Given the description of an element on the screen output the (x, y) to click on. 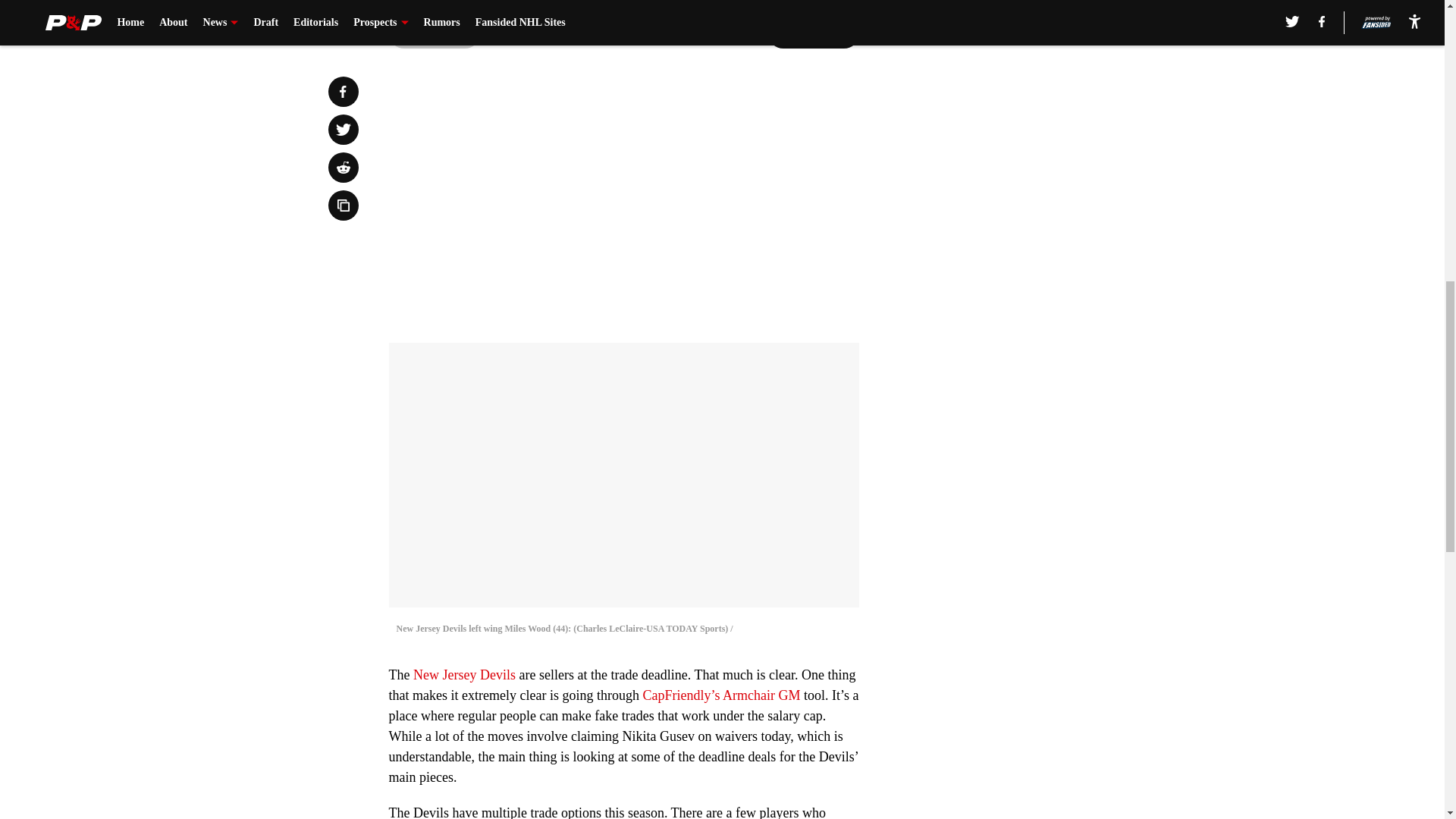
Next (813, 33)
New Jersey Devils (464, 674)
Prev (433, 33)
